Given the description of an element on the screen output the (x, y) to click on. 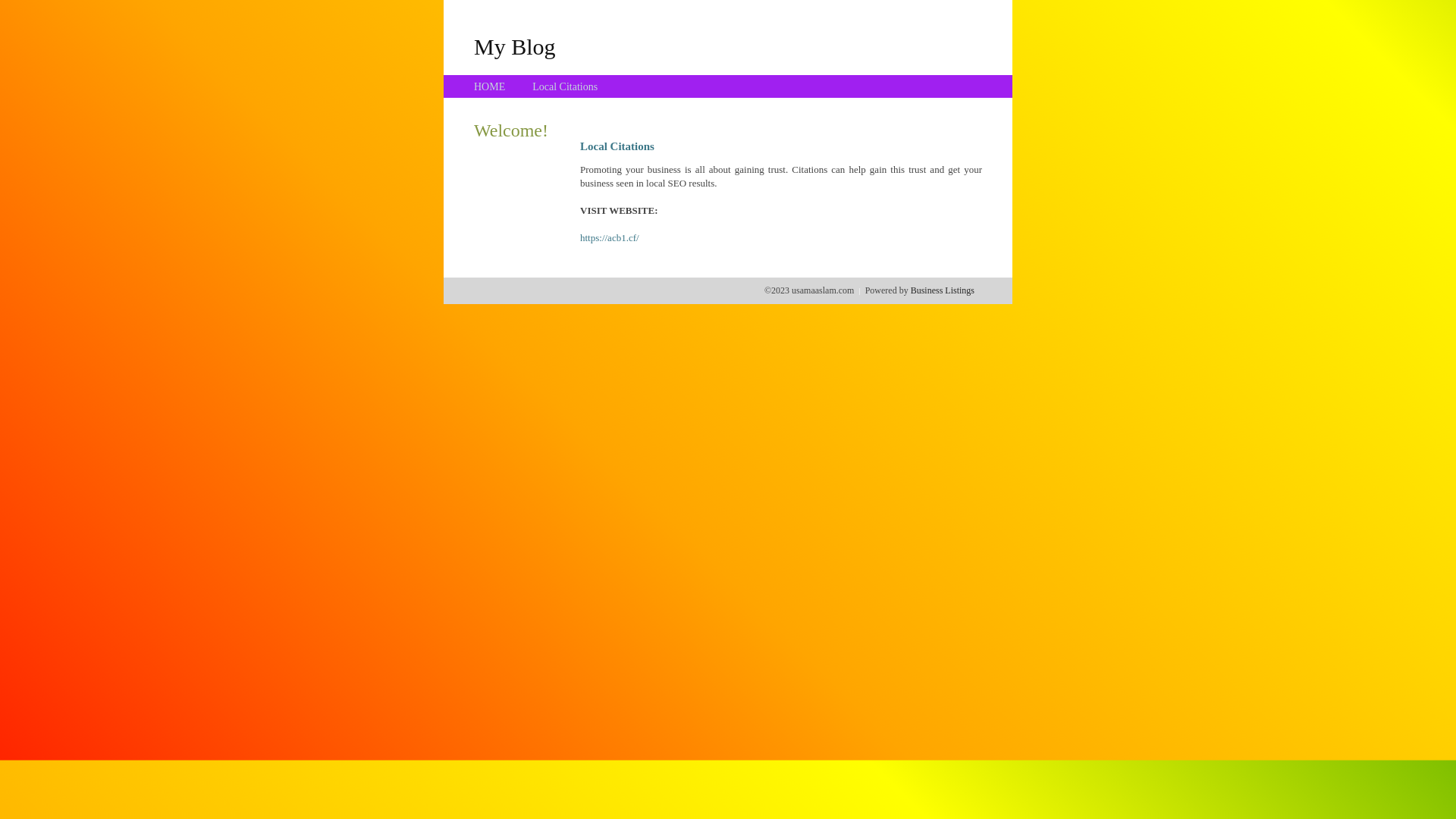
HOME Element type: text (489, 86)
My Blog Element type: text (514, 46)
Business Listings Element type: text (942, 290)
https://acb1.cf/ Element type: text (609, 237)
Local Citations Element type: text (564, 86)
